Given the description of an element on the screen output the (x, y) to click on. 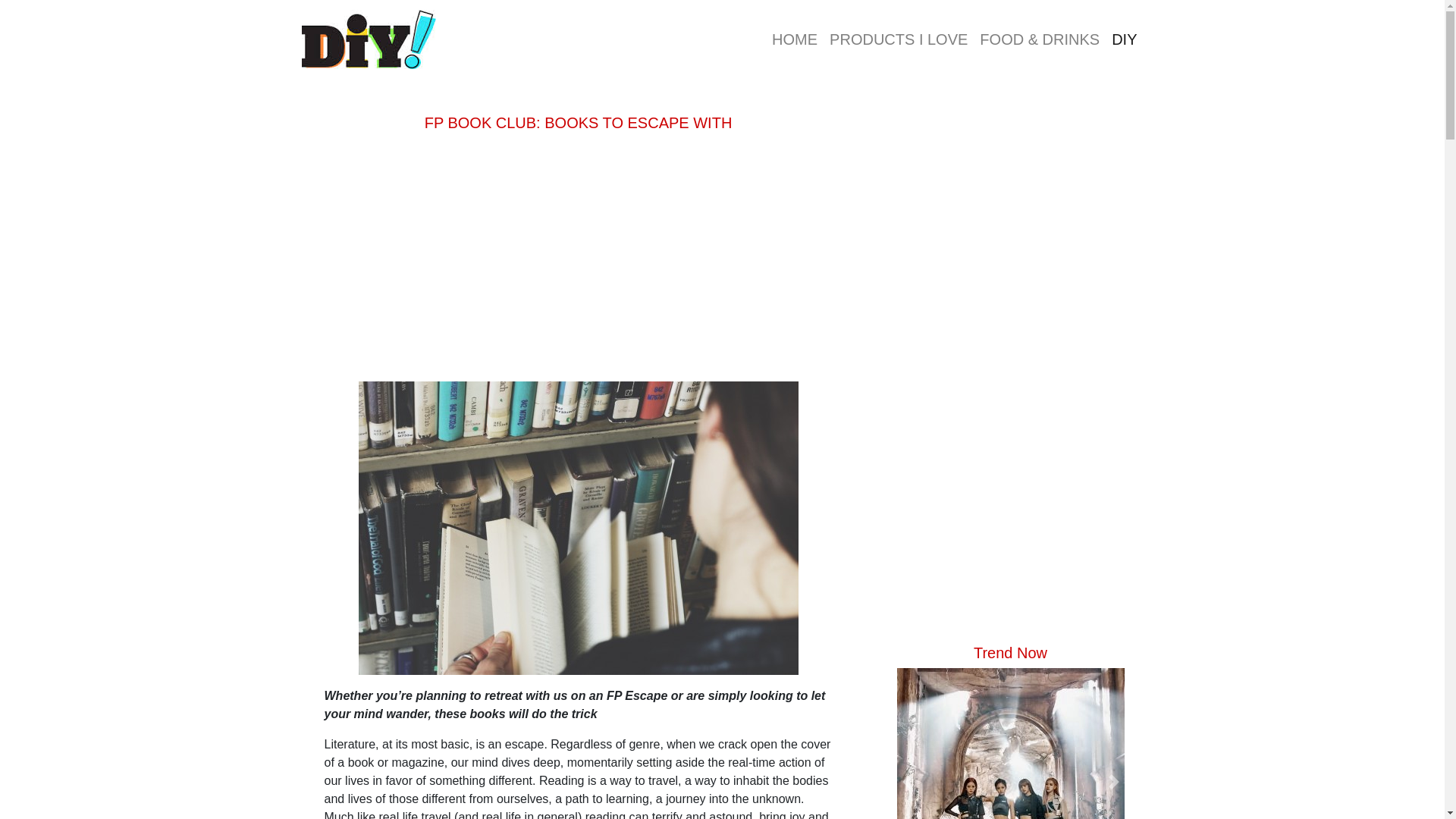
Advertisement (577, 259)
13 blackpink ideas (1009, 743)
DIY (1123, 39)
glyphicon glyphicon-thumbs-up (899, 39)
glyphicon glyphicon-cutlery (1039, 39)
HOME (794, 39)
glyphicon glyphicon-home (794, 39)
PRODUCTS I LOVE (899, 39)
Advertisement (1010, 130)
glyphicon glyphicon-paperclip (1123, 39)
